Given the description of an element on the screen output the (x, y) to click on. 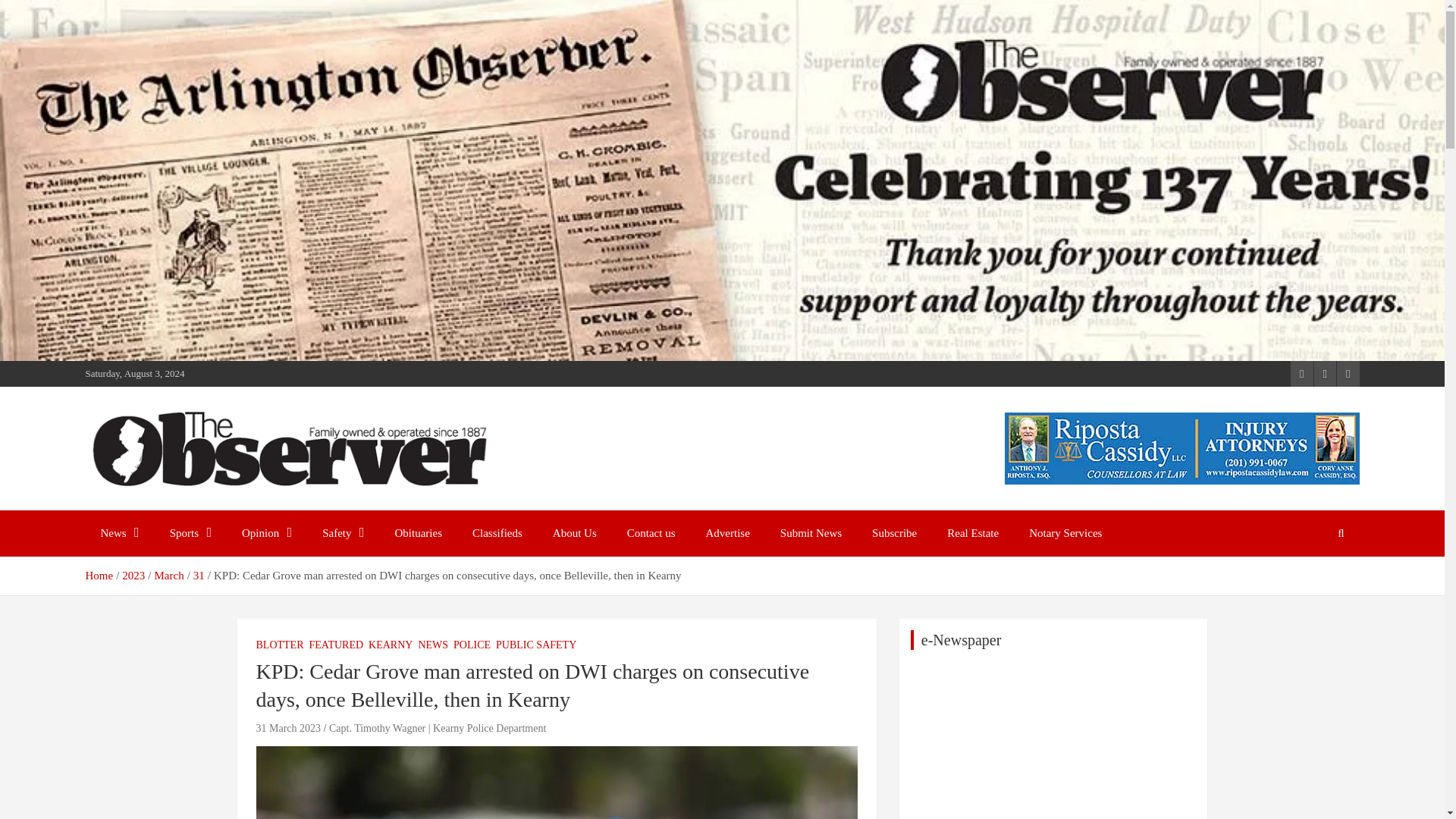
Sports (190, 533)
Opinion (267, 533)
About Us (574, 533)
The Observer Online (212, 506)
News (119, 533)
Safety (342, 533)
Classifieds (497, 533)
Obituaries (418, 533)
